Given the description of an element on the screen output the (x, y) to click on. 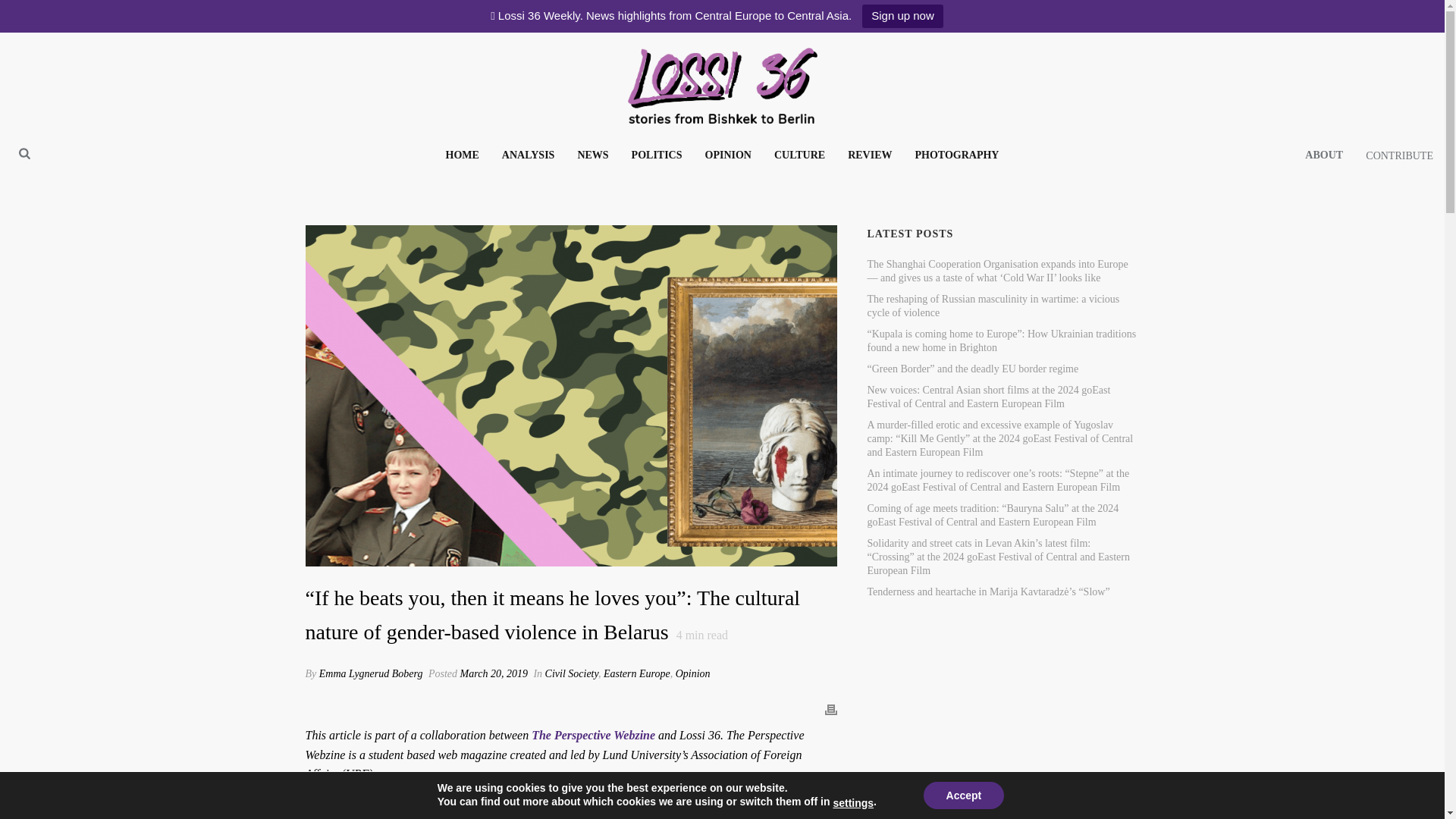
HOME (461, 155)
ANALYSIS (528, 155)
NEWS (593, 155)
CULTURE (798, 155)
Posts by Emma Lygnerud Boberg (370, 673)
OPINION (728, 155)
ANALYSIS (528, 155)
HOME (461, 155)
REVIEW (868, 155)
ABOUT (1324, 155)
OPINION (728, 155)
Sign up now (902, 15)
POLITICS (657, 155)
ABOUT (1324, 155)
